Given the description of an element on the screen output the (x, y) to click on. 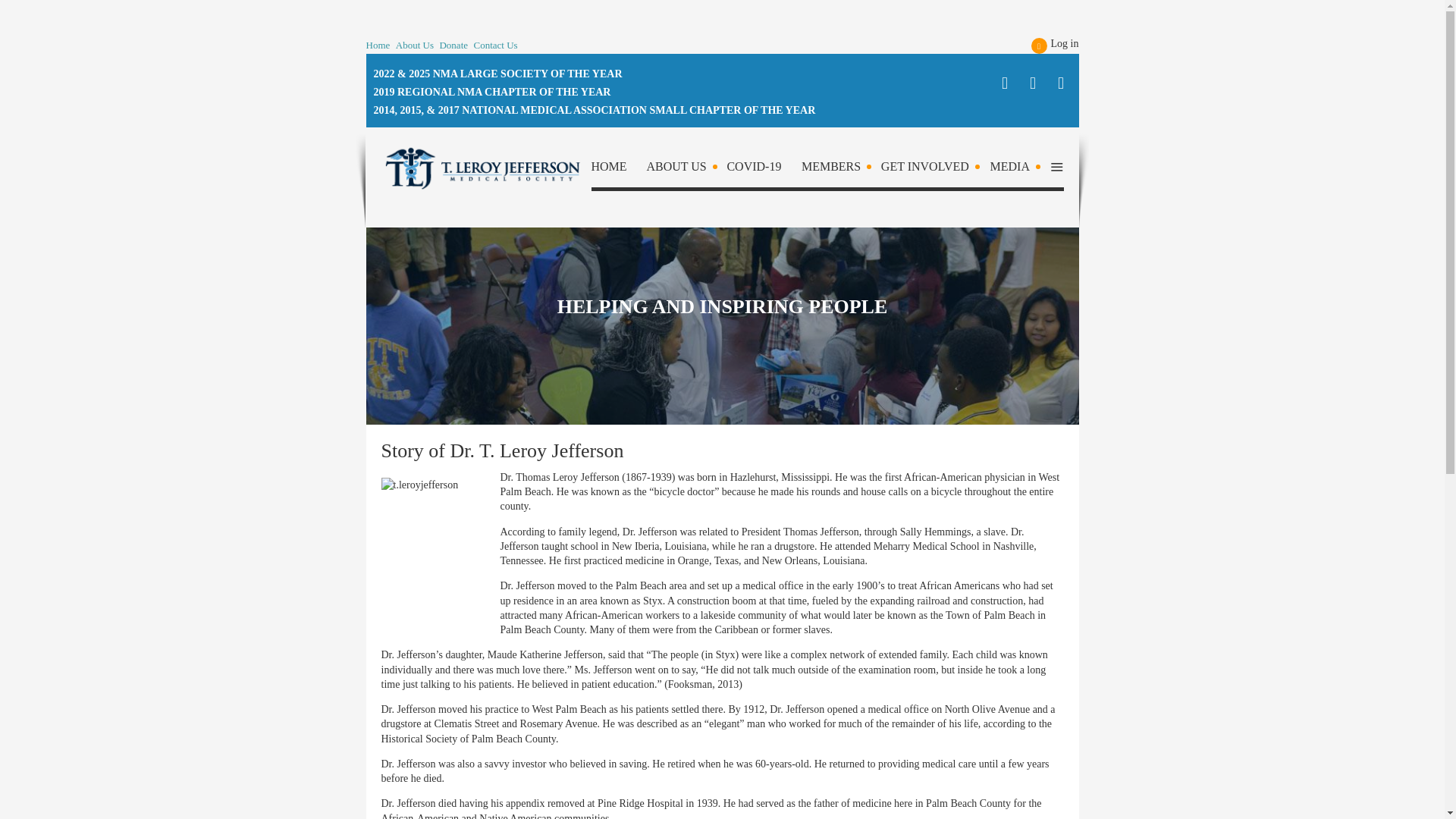
Twitter (1032, 82)
Home (377, 45)
COVID-19 (762, 170)
MEMBERS (840, 170)
Facebook (1004, 82)
Donate (453, 45)
GET INVOLVED (933, 170)
LinkedIn (1061, 82)
Donate (453, 45)
About Us (414, 45)
